Given the description of an element on the screen output the (x, y) to click on. 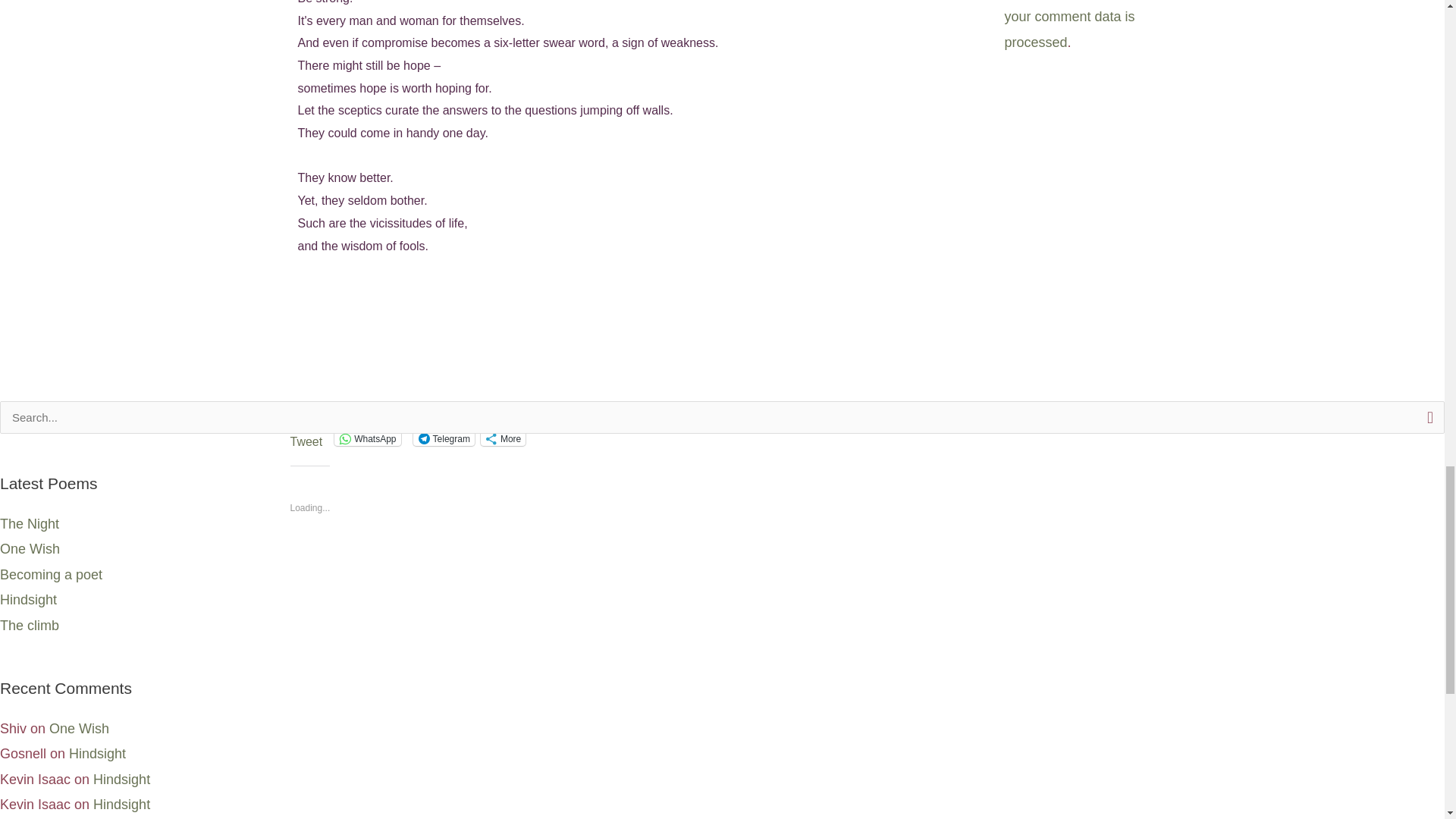
WhatsApp (367, 437)
One Wish (79, 728)
Hindsight (96, 753)
One Wish (29, 548)
The Night (29, 523)
Click to share on Telegram (443, 437)
Hindsight (28, 599)
Telegram (443, 437)
Becoming a poet (50, 574)
Tweet (305, 437)
